Given the description of an element on the screen output the (x, y) to click on. 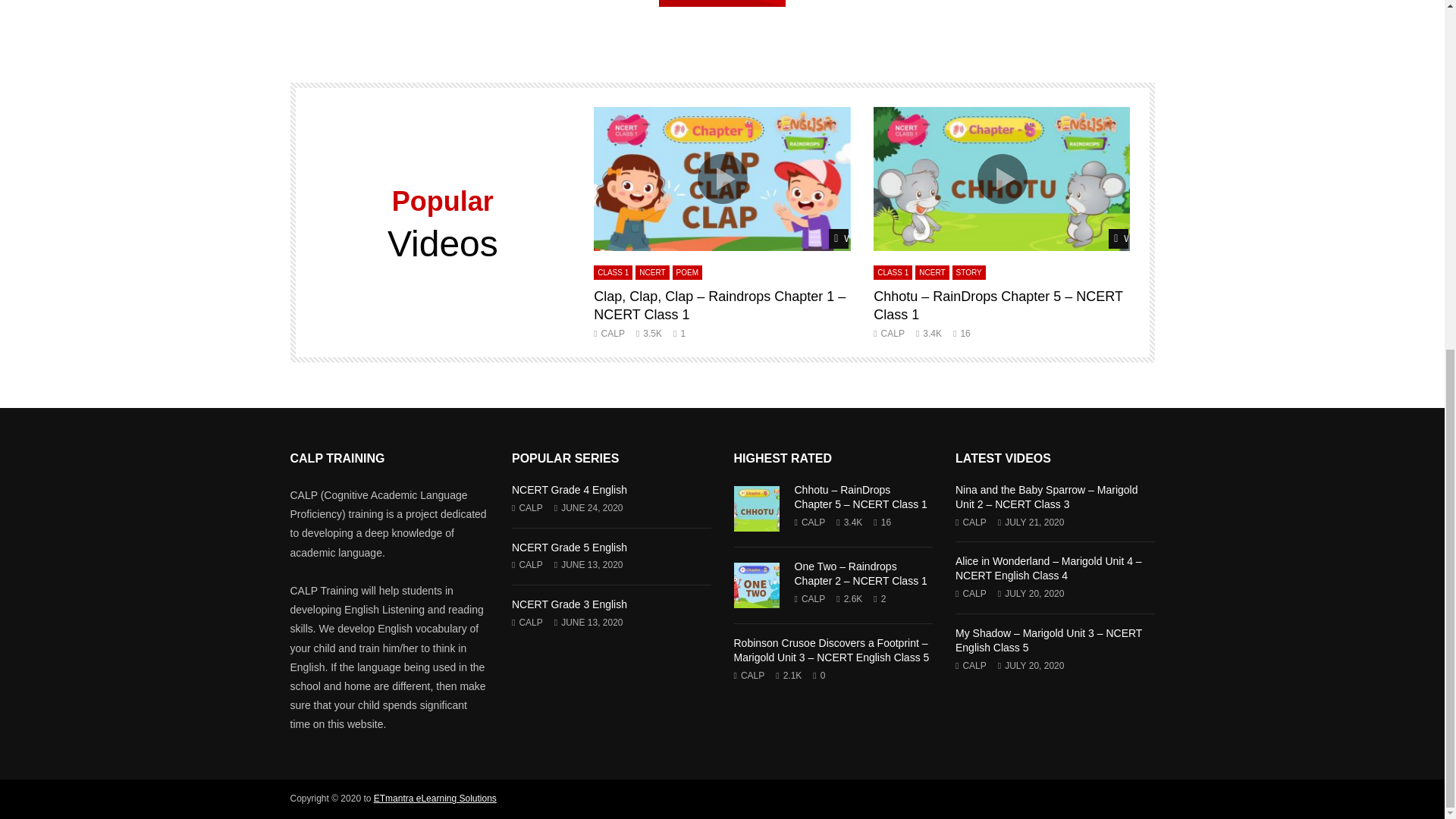
BACK TO HOMEPAGE (722, 2)
